Given the description of an element on the screen output the (x, y) to click on. 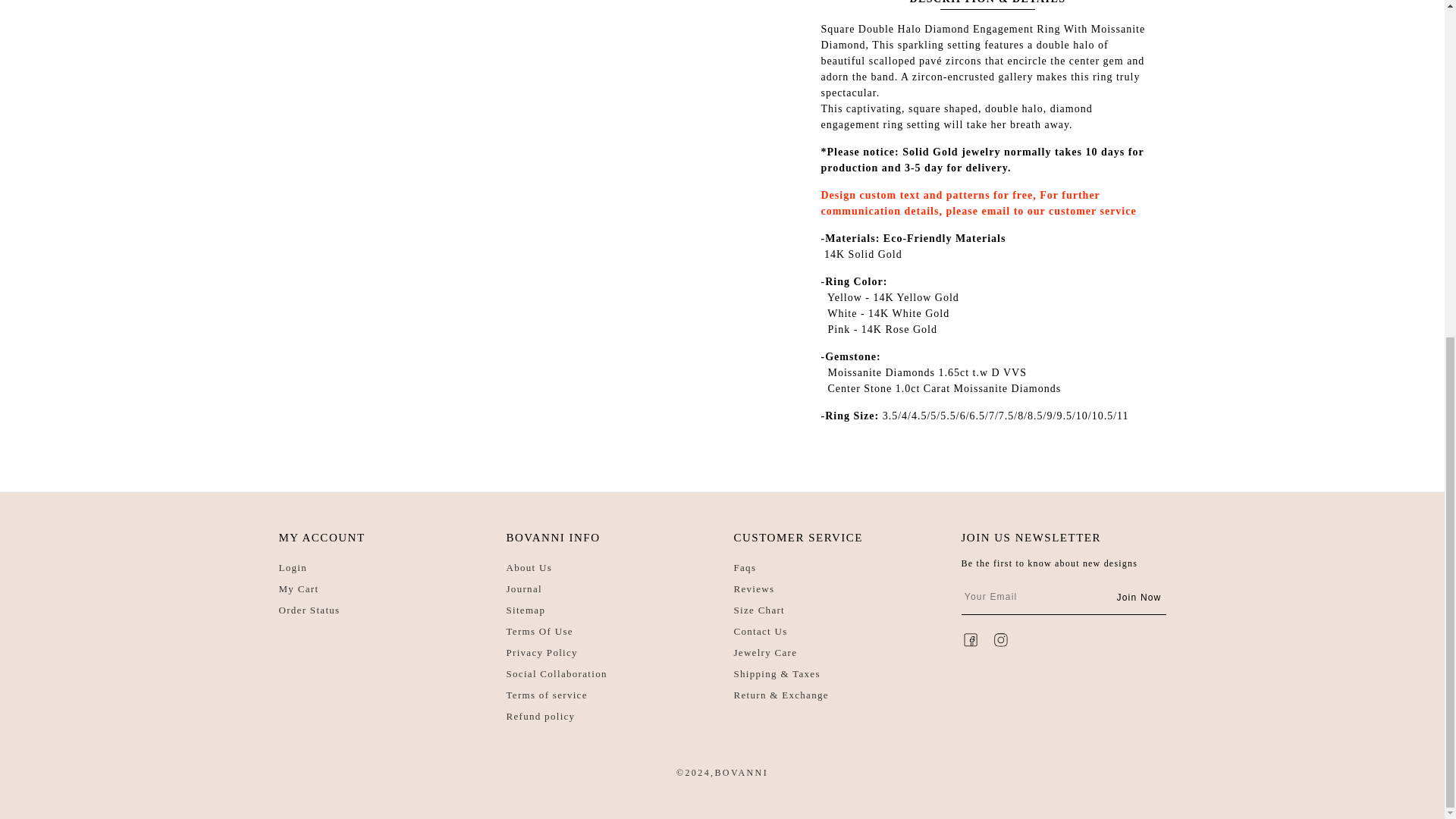
Login (293, 567)
Sitemap (526, 609)
Journal (523, 588)
Order Status (309, 609)
About Us (529, 567)
My Cart (298, 588)
Terms Of Use (539, 631)
